Given the description of an element on the screen output the (x, y) to click on. 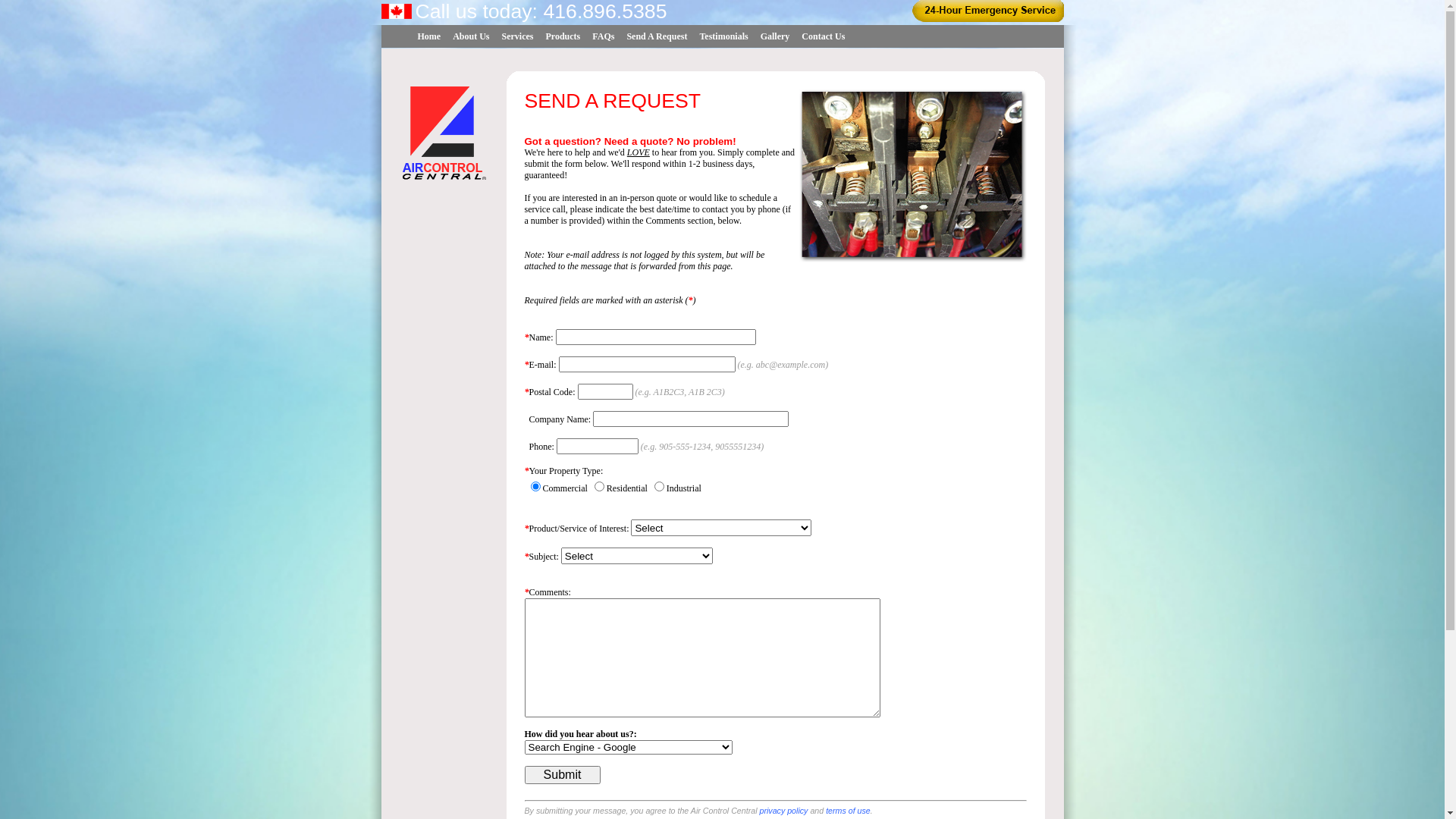
FAQs Element type: text (603, 36)
Testimonials Element type: text (723, 36)
Contact Us Element type: text (822, 36)
Products Element type: text (562, 36)
Submit Element type: text (562, 774)
Home Element type: text (428, 36)
Gallery Element type: text (775, 36)
privacy policy Element type: text (783, 810)
Services Element type: text (517, 36)
Send A Request Element type: text (656, 36)
About Us Element type: text (470, 36)
terms of use Element type: text (847, 810)
